Given the description of an element on the screen output the (x, y) to click on. 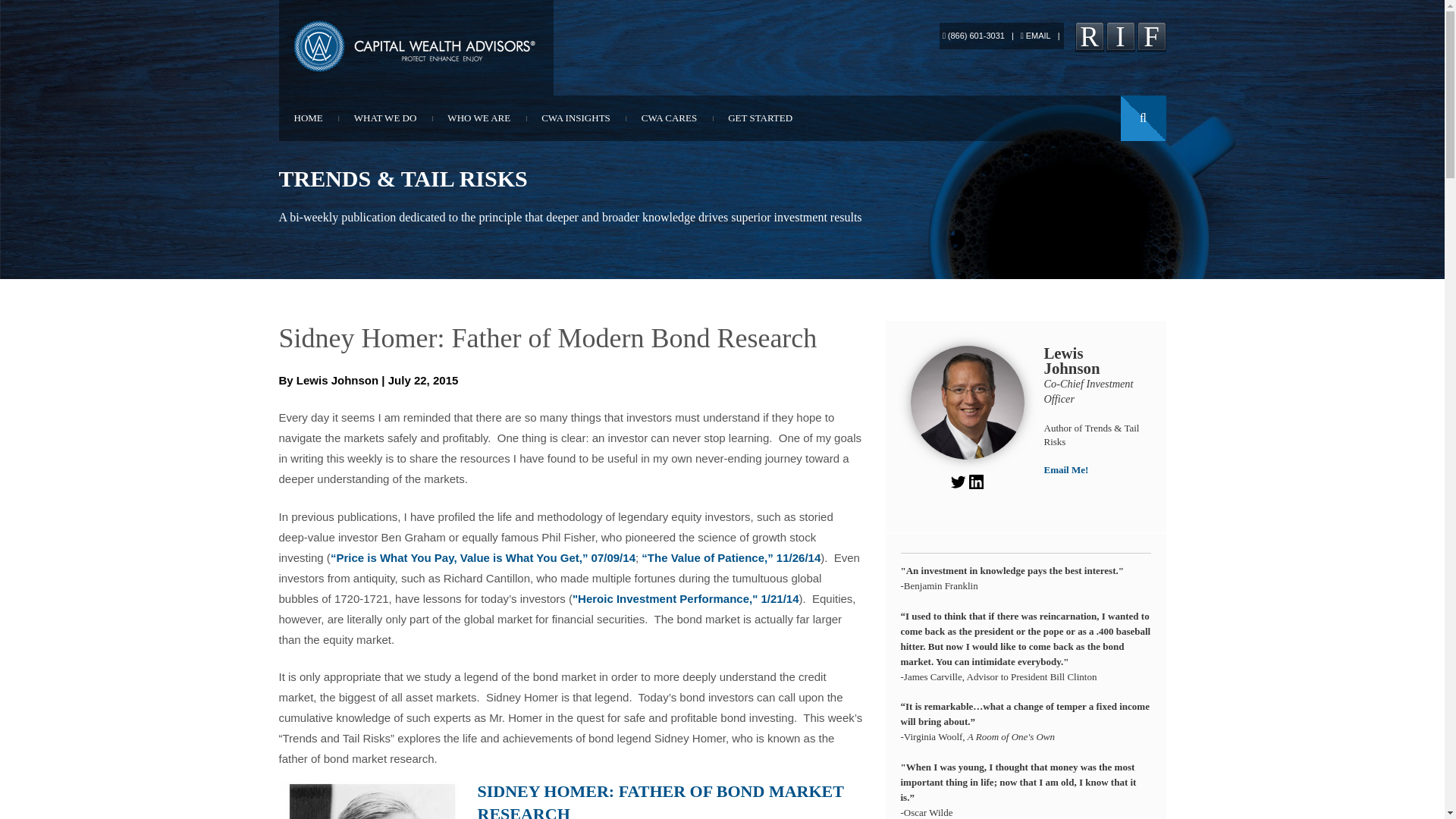
CWA CARES (668, 117)
WHAT WE DO (385, 117)
Lewis Johnson (337, 379)
Twitter icon (958, 495)
Twitter icon (957, 482)
Email Me! (1065, 469)
LinkedIn icon (976, 482)
Capital Wealth Advisors (416, 46)
LinkedIn (1119, 37)
RSS (1089, 37)
 EMAIL (1035, 35)
LinkedIn icon (976, 495)
HOME (308, 117)
WHO WE ARE (478, 117)
GET STARTED (760, 117)
